Given the description of an element on the screen output the (x, y) to click on. 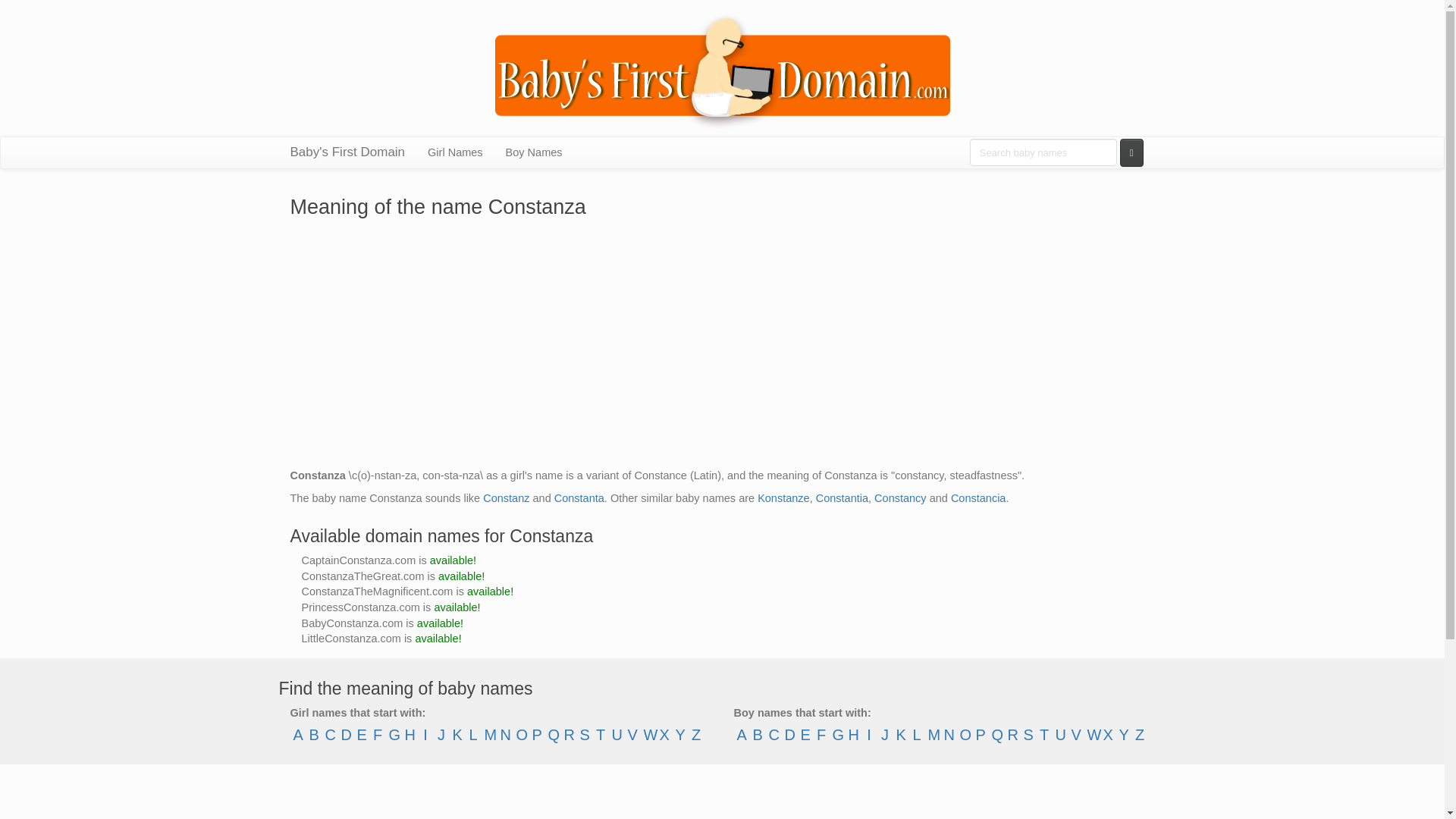
Boy Names (534, 152)
Constanta (579, 498)
Girl Names (455, 152)
Constancia (978, 498)
available! (456, 607)
available! (437, 638)
Konstanze (783, 498)
available! (490, 591)
available! (439, 623)
available! (461, 576)
Baby's First Domain (347, 152)
Constanz (506, 498)
Advertisement (722, 799)
available! (452, 560)
